Given the description of an element on the screen output the (x, y) to click on. 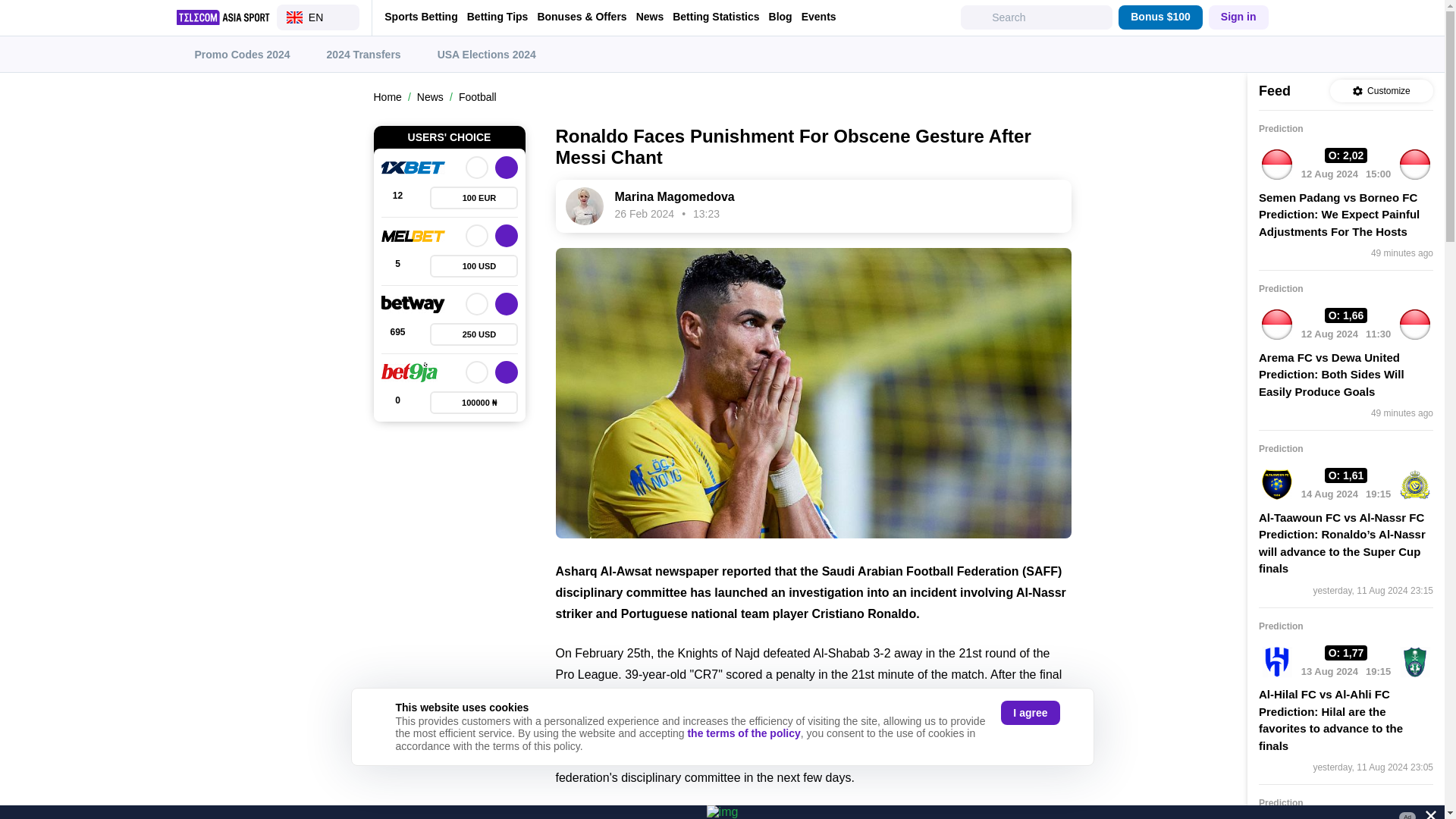
Sports Betting (420, 16)
Bonuses (472, 333)
To the website (505, 303)
OVERVIEW (476, 167)
OVERVIEW (476, 372)
Bonuses (472, 265)
To the website (505, 235)
Bonuses (472, 402)
To the website (505, 372)
Reviews (396, 265)
